Given the description of an element on the screen output the (x, y) to click on. 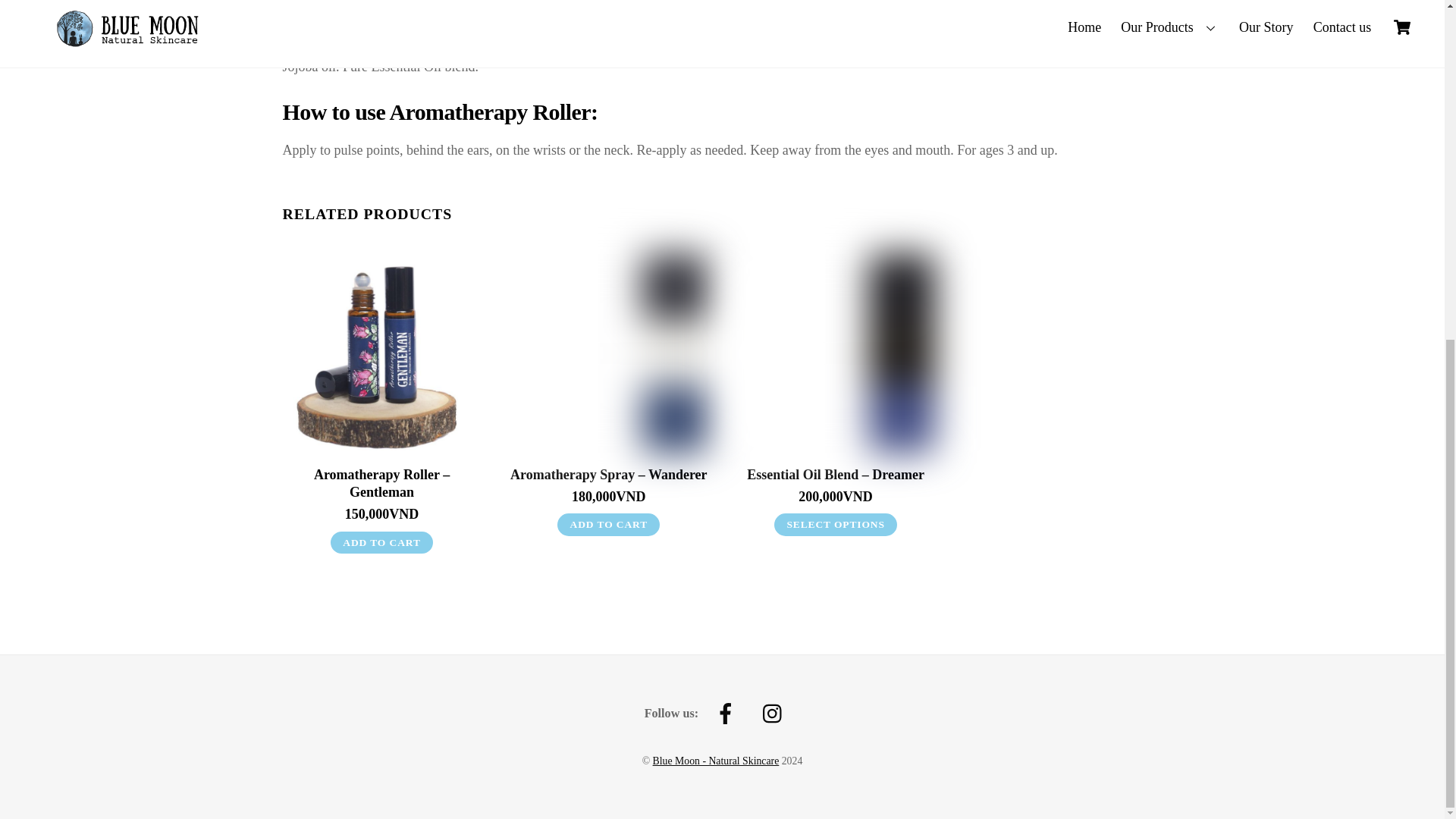
ADD TO CART (381, 542)
SELECT OPTIONS (835, 524)
Wanderer Aromatherapy spray Blue Moon Saigon (608, 352)
Dreamer Aromatherapy oil blend Blue Moon Natural Skincare (835, 352)
ADD TO CART (608, 524)
